Given the description of an element on the screen output the (x, y) to click on. 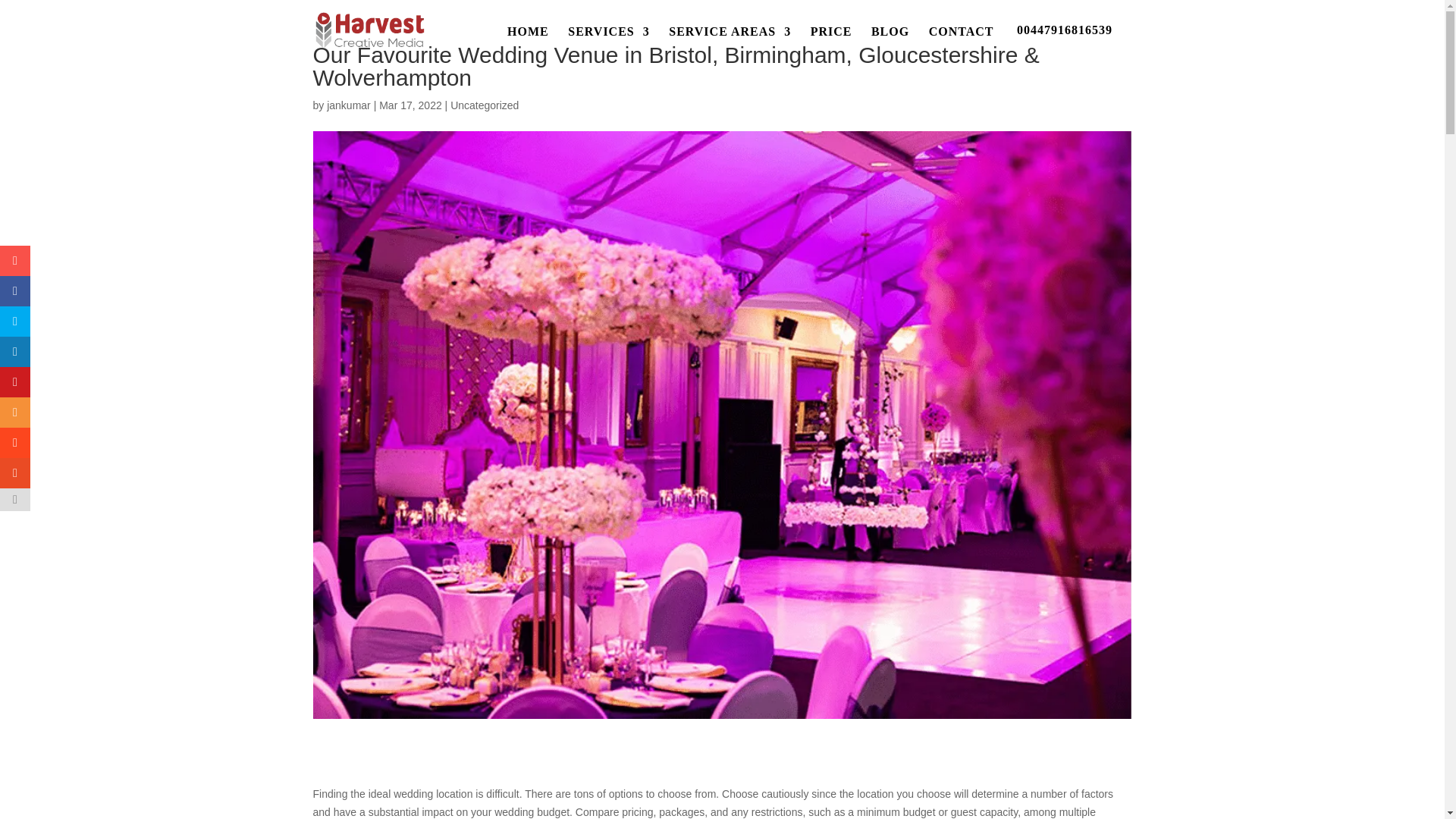
Uncategorized (483, 105)
PRICE (830, 44)
SERVICE AREAS (729, 44)
Wedding Photography and Videography Services (608, 44)
BLOG (889, 44)
jankumar (348, 105)
CONTACT (961, 44)
SERVICES (608, 44)
Wedding Photography and Videography Packages (830, 44)
HOME (527, 44)
Wedding photography and videography (527, 44)
